Given the description of an element on the screen output the (x, y) to click on. 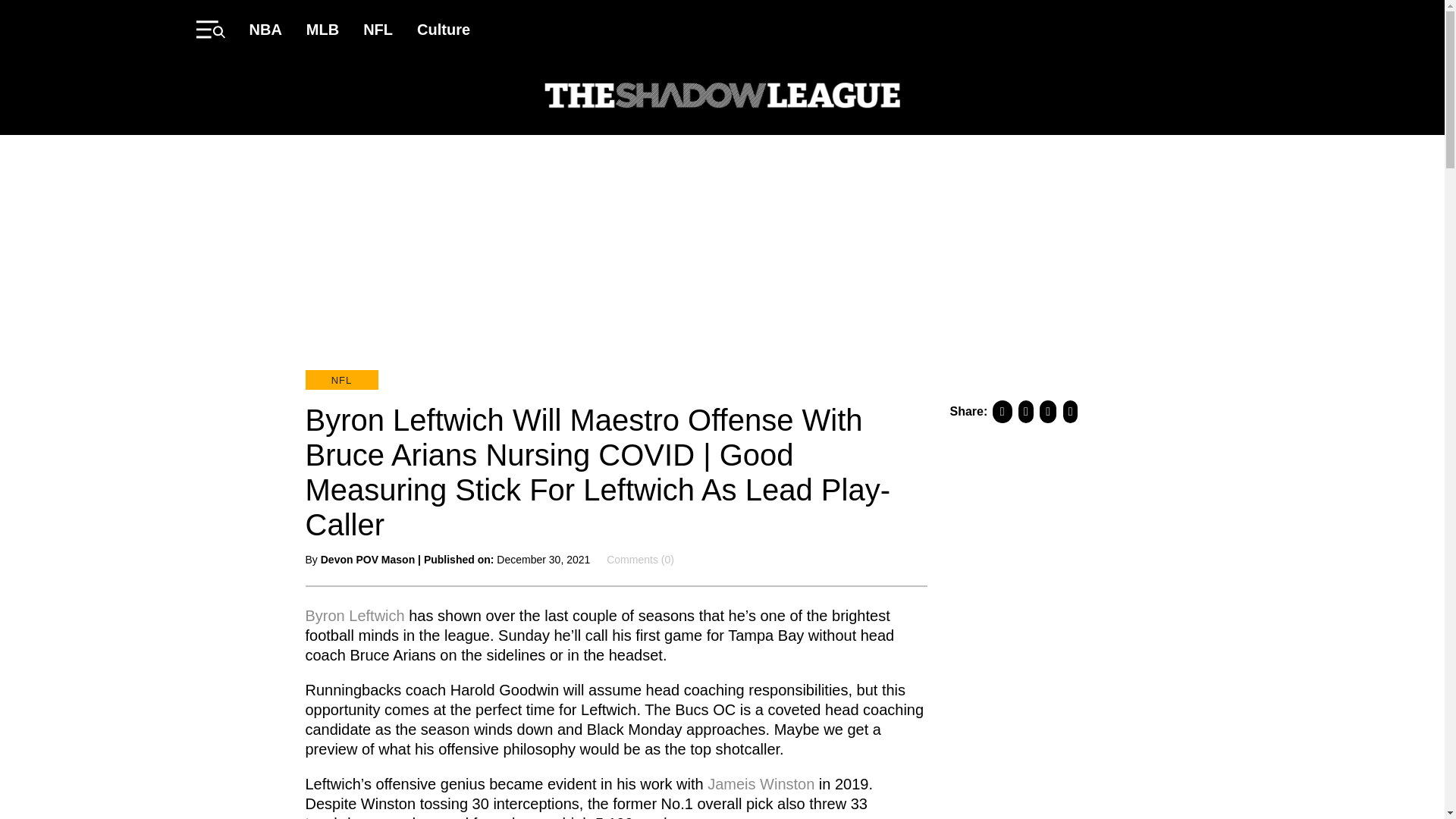
Devon POV Mason (367, 559)
MLB (322, 29)
Byron Leftwich (354, 614)
NFL (377, 29)
NFL (340, 379)
The Shadow League (721, 96)
Jameis Winston (760, 782)
Culture (443, 29)
NBA (264, 29)
